Given the description of an element on the screen output the (x, y) to click on. 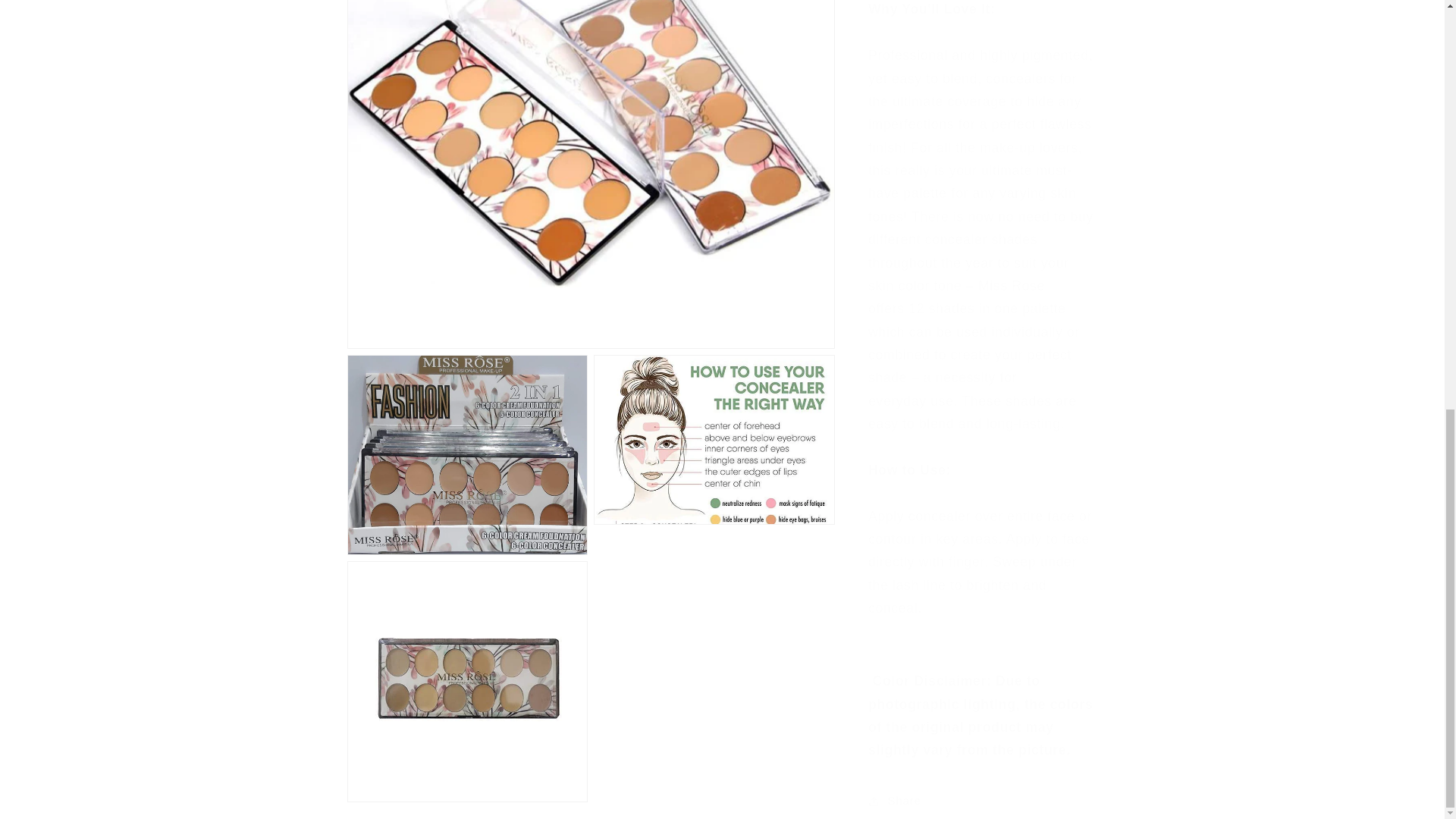
Open media 4 in modal (467, 65)
